Given the description of an element on the screen output the (x, y) to click on. 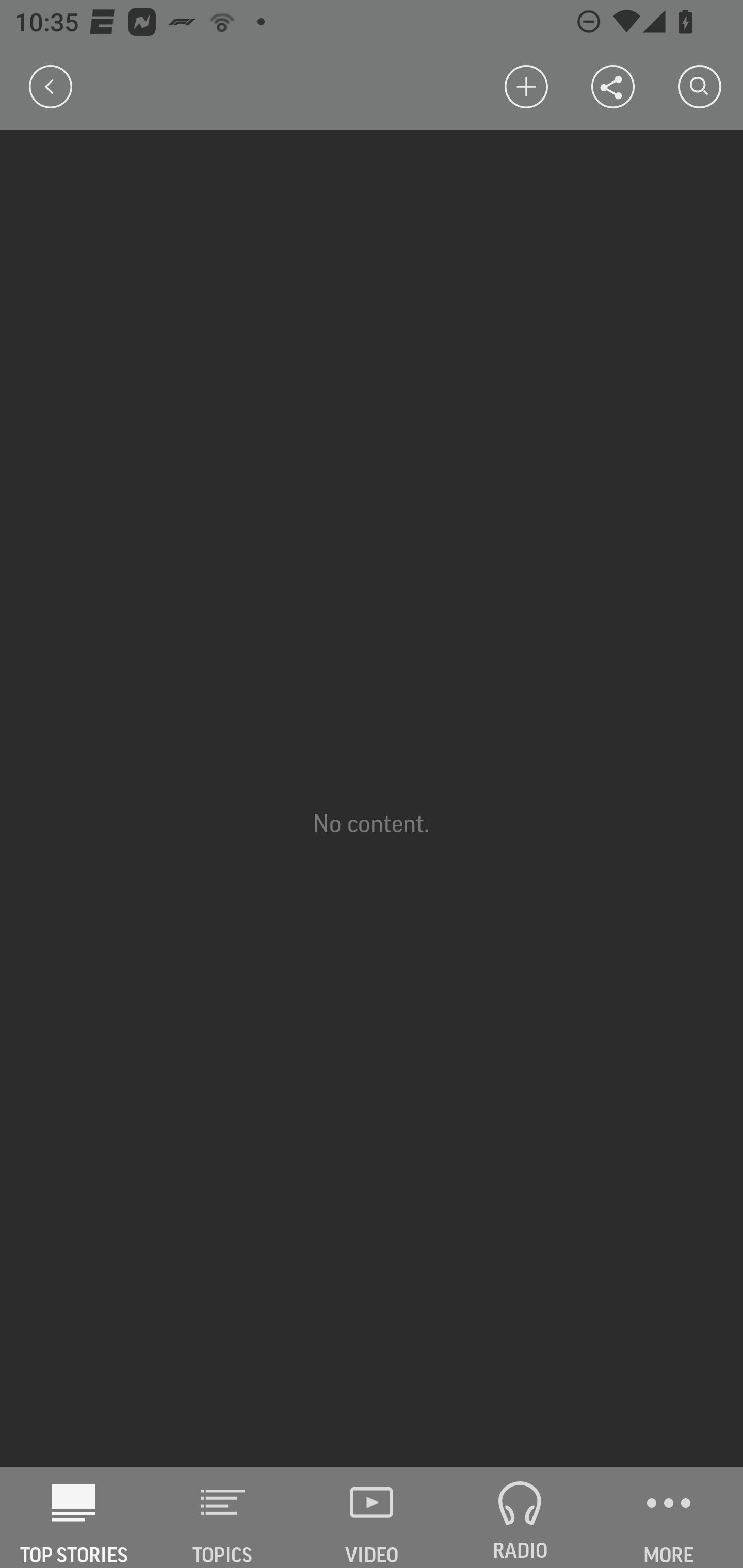
AP News TOP STORIES (74, 1517)
TOPICS (222, 1517)
VIDEO (371, 1517)
RADIO (519, 1517)
MORE (668, 1517)
